Given the description of an element on the screen output the (x, y) to click on. 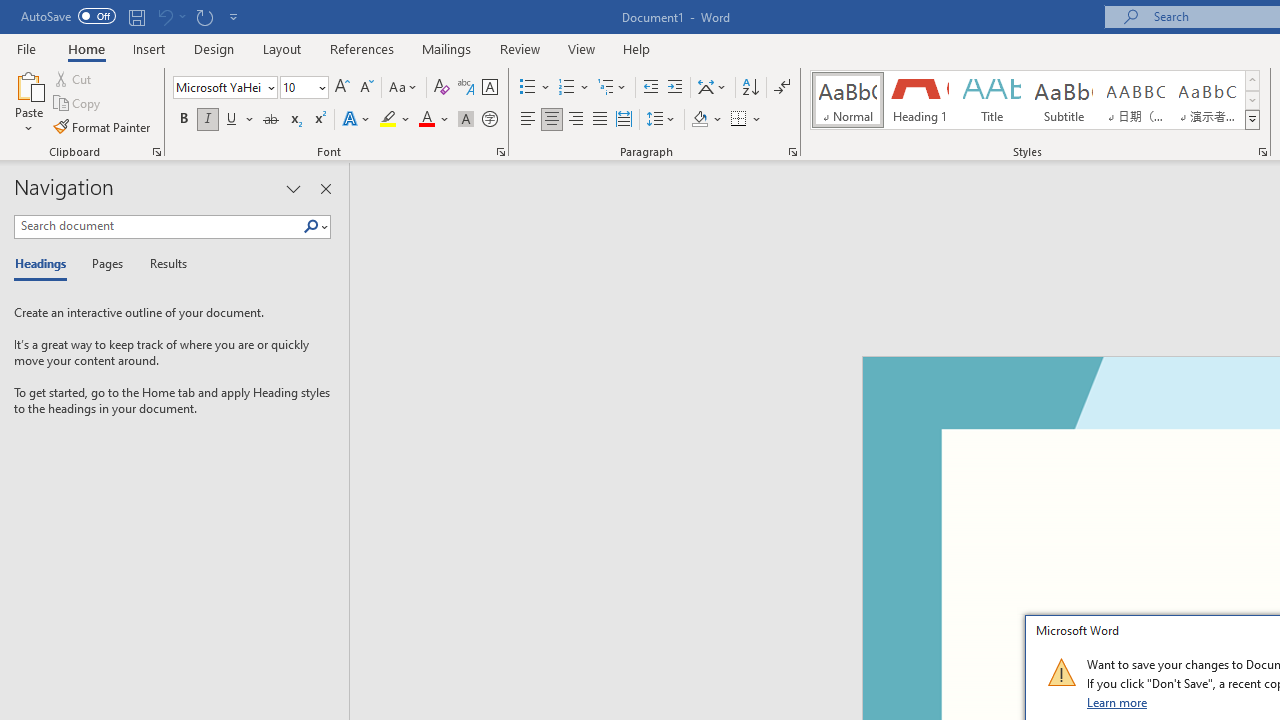
Can't Undo (164, 15)
